Given the description of an element on the screen output the (x, y) to click on. 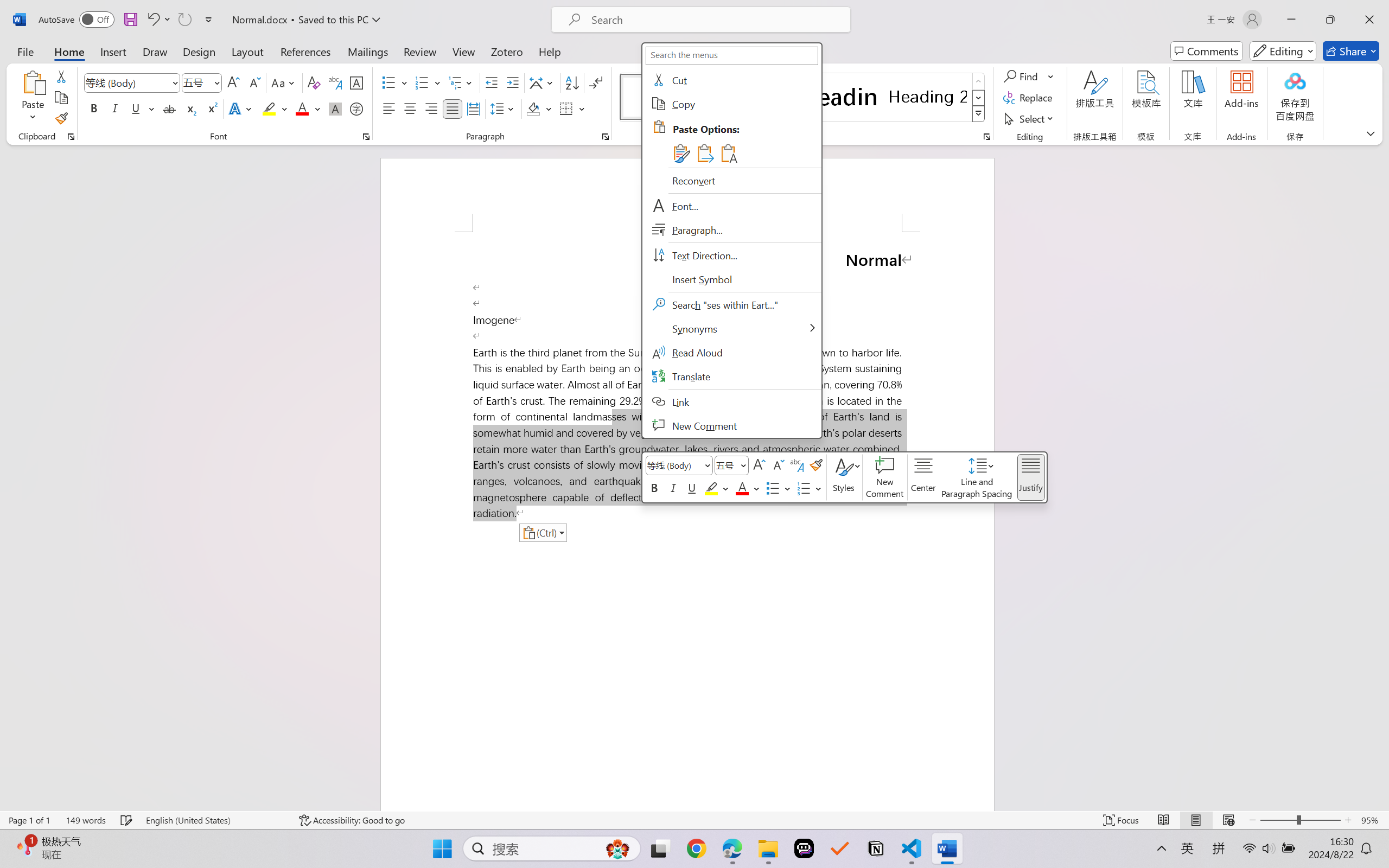
Class: NetUIAnchor (977, 476)
Class: NetUIToolWindow (844, 477)
Sort... (571, 82)
Styles... (986, 136)
Search "ses within Eart..." (730, 304)
